Given the description of an element on the screen output the (x, y) to click on. 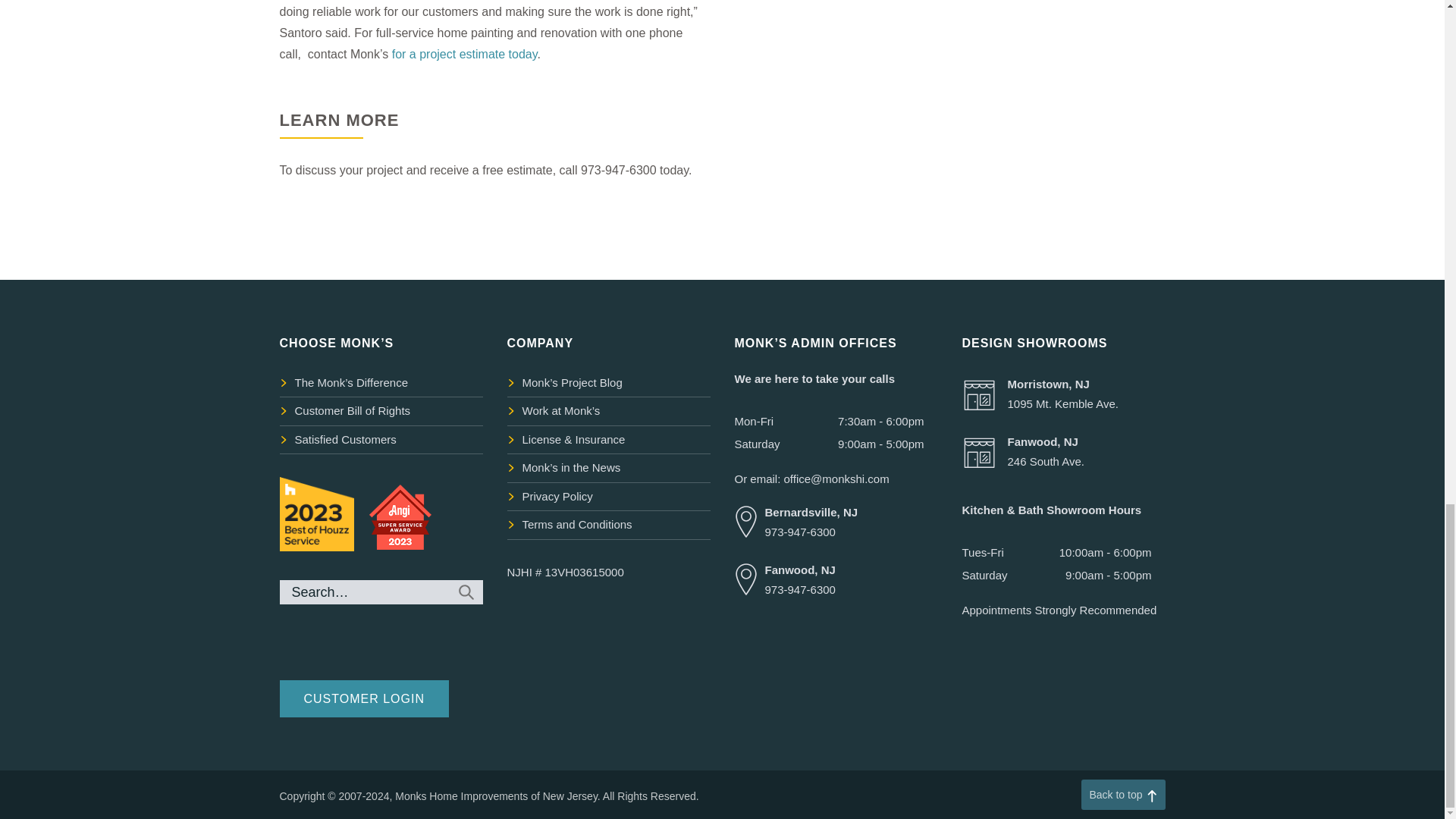
Search for (380, 591)
